Given the description of an element on the screen output the (x, y) to click on. 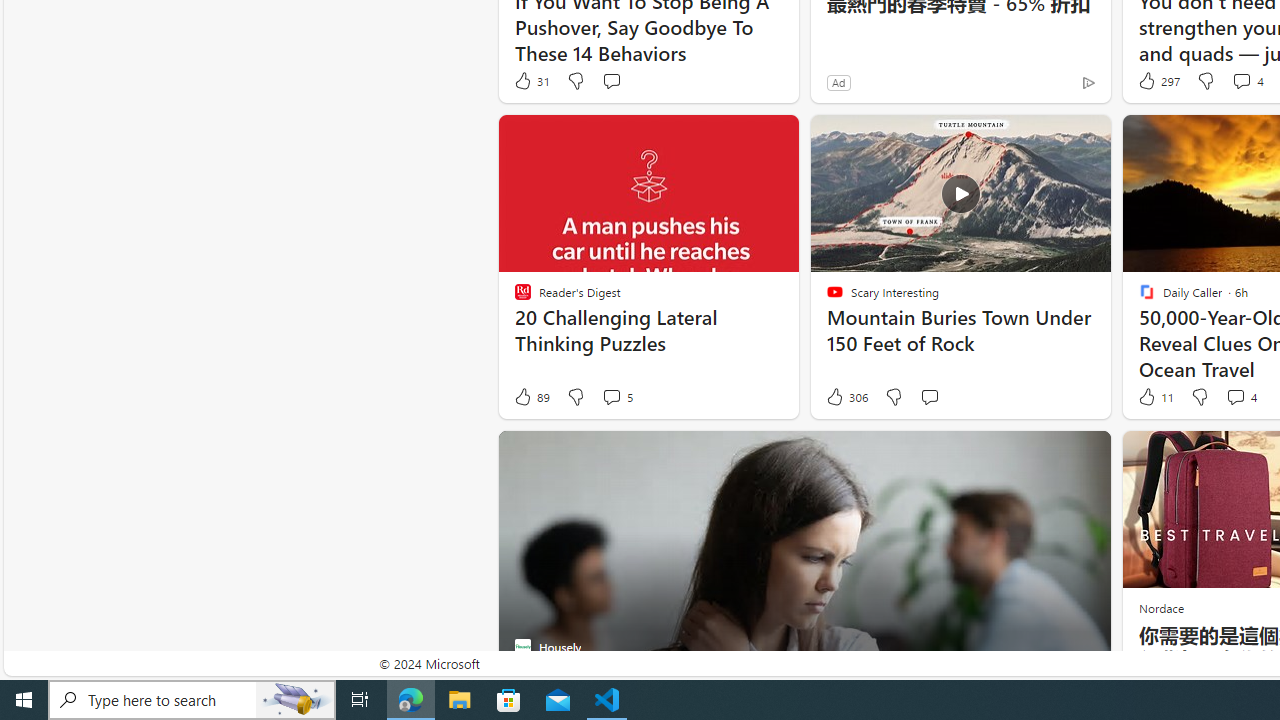
297 Like (1157, 80)
11 Like (1154, 397)
Hide this story (1050, 454)
View comments 4 Comment (1240, 397)
89 Like (531, 397)
View comments 4 Comment (1234, 396)
View comments 5 Comment (616, 397)
View comments 5 Comment (611, 396)
